Given the description of an element on the screen output the (x, y) to click on. 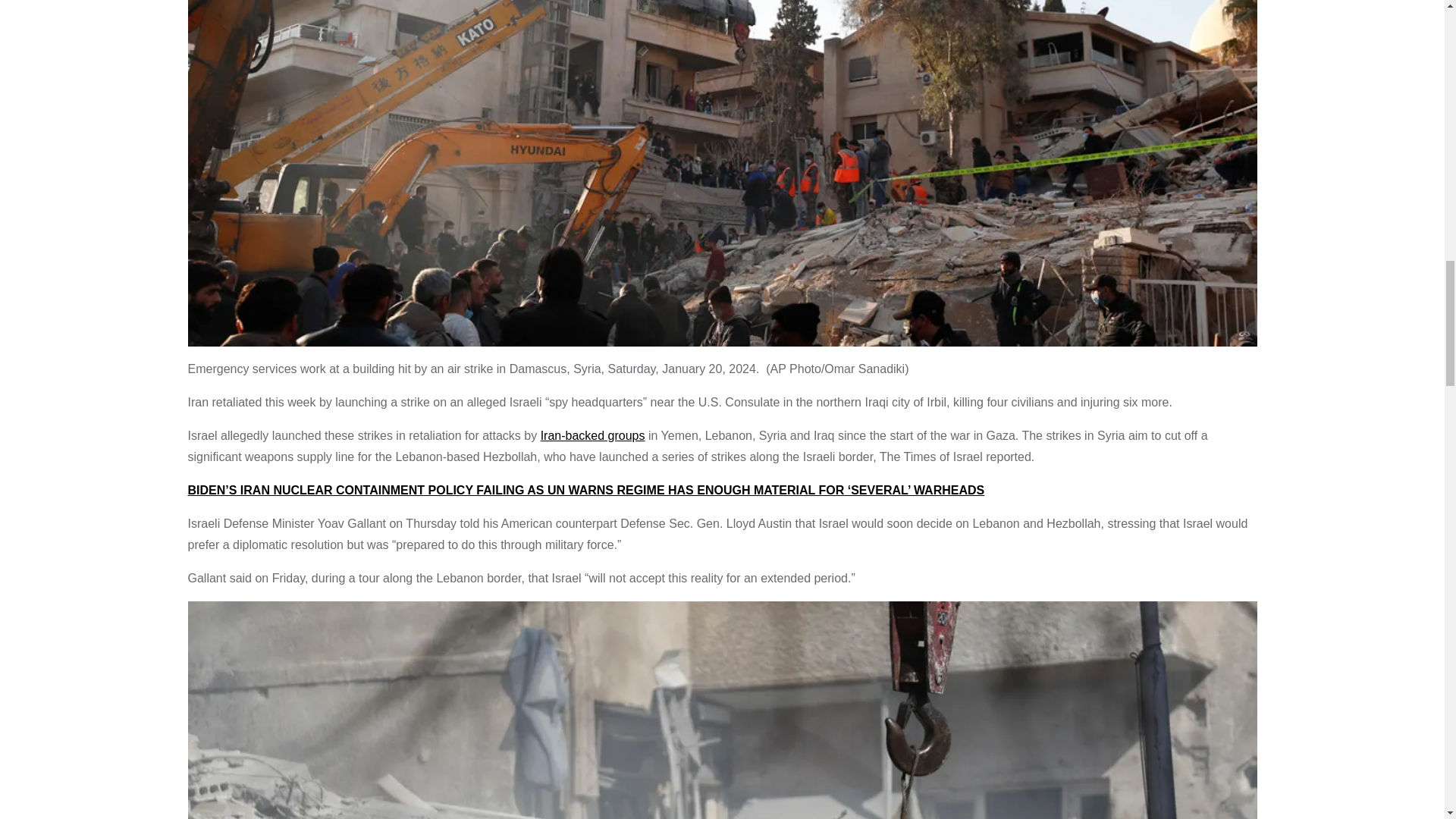
Iran-backed groups (592, 435)
